Given the description of an element on the screen output the (x, y) to click on. 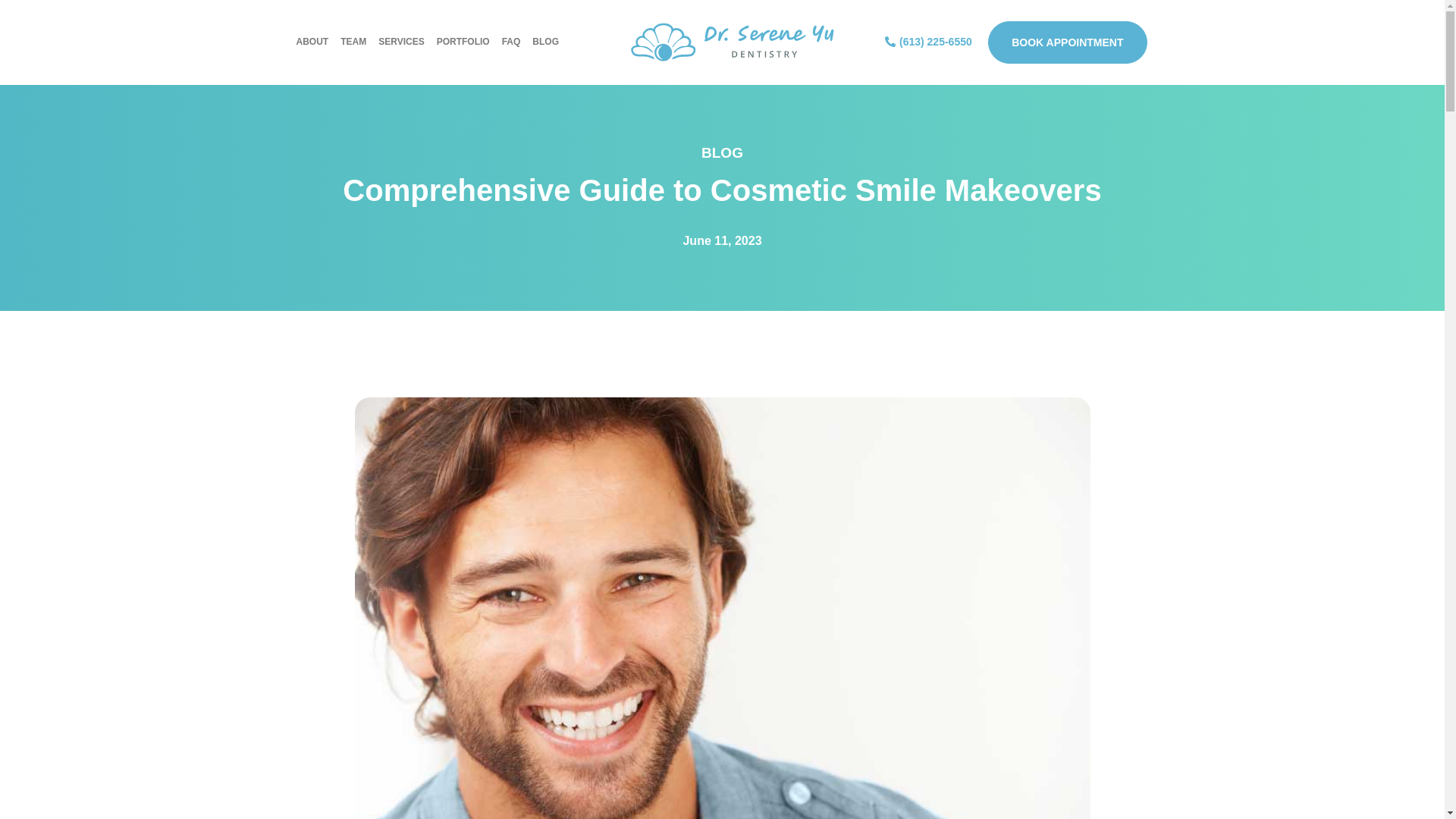
TEAM (353, 42)
June 11, 2023 (721, 240)
BOOK APPOINTMENT (1067, 42)
BLOG (544, 42)
SERVICES (400, 42)
FAQ (511, 42)
ABOUT (311, 42)
PORTFOLIO (463, 42)
